Given the description of an element on the screen output the (x, y) to click on. 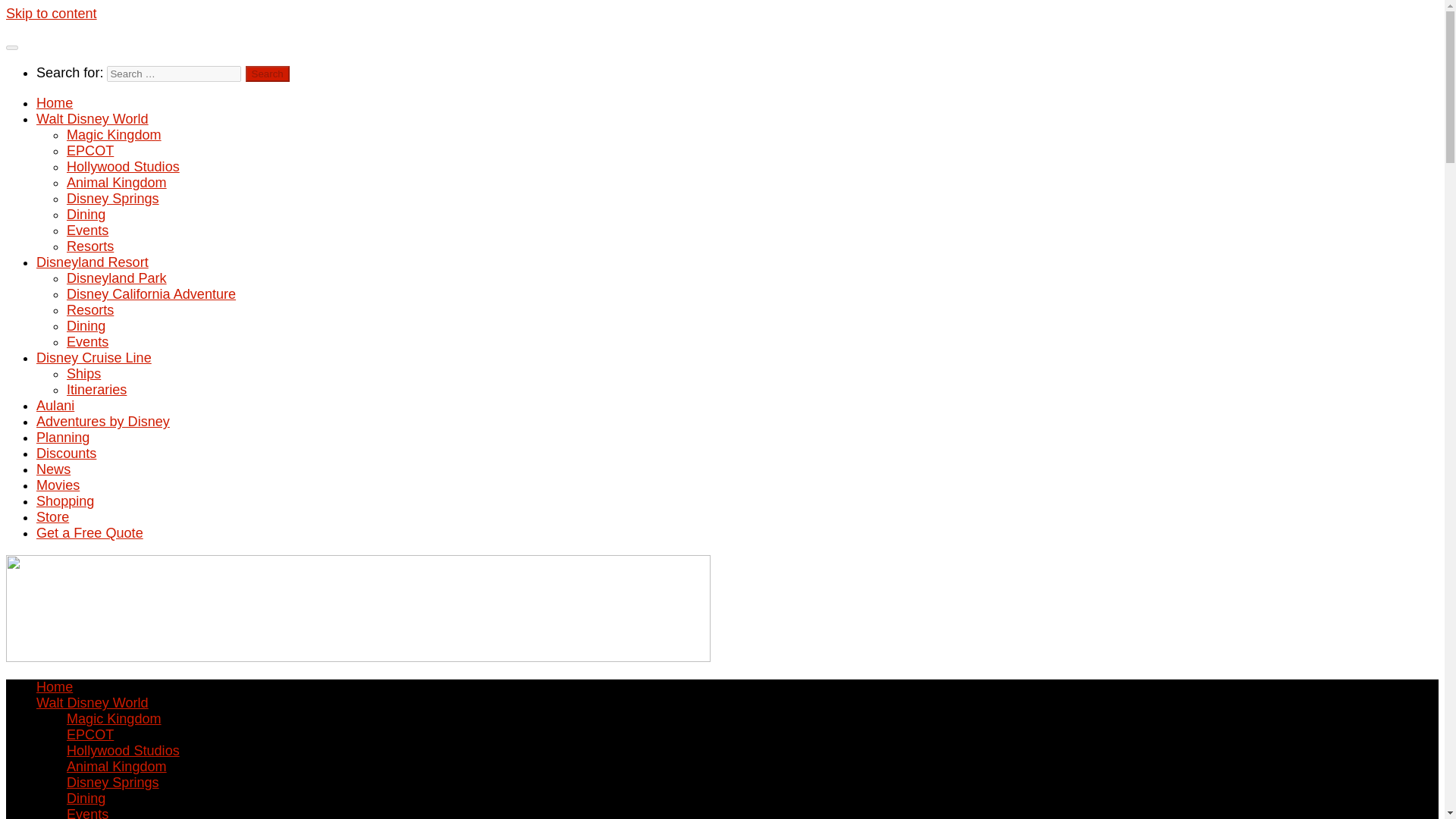
Hollywood Studios (122, 750)
Menu (11, 47)
Planning (62, 437)
Adventures by Disney (103, 421)
Resorts (89, 309)
Walt Disney World (92, 118)
News (52, 468)
Dining (85, 214)
Get a Free Quote (89, 532)
Itineraries (96, 389)
